Given the description of an element on the screen output the (x, y) to click on. 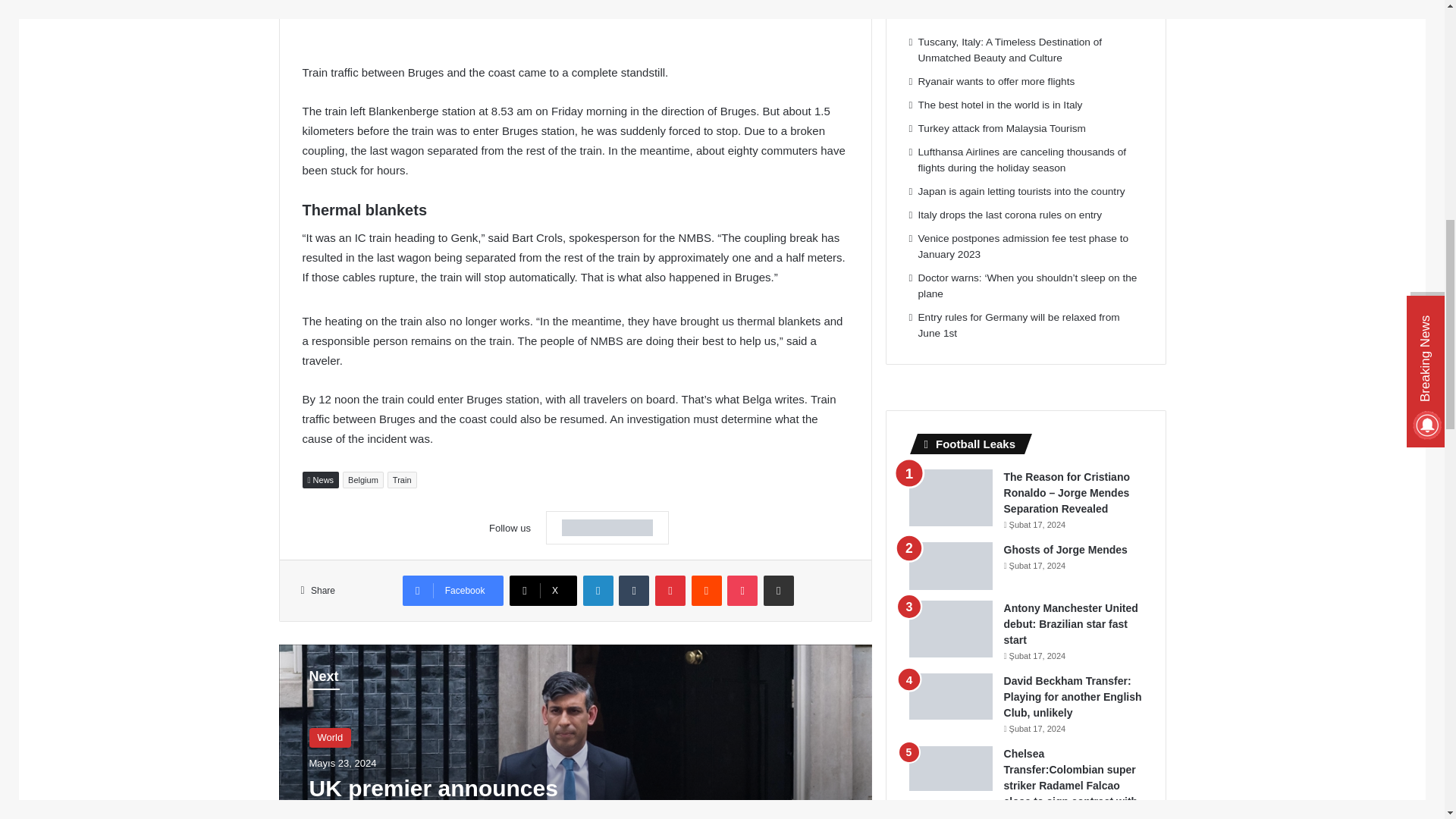
Facebook (453, 590)
X (542, 590)
Pinterest (670, 590)
Pocket (741, 590)
Reddit (706, 590)
Tumblr (633, 590)
LinkedIn (597, 590)
Google News (607, 527)
